Given the description of an element on the screen output the (x, y) to click on. 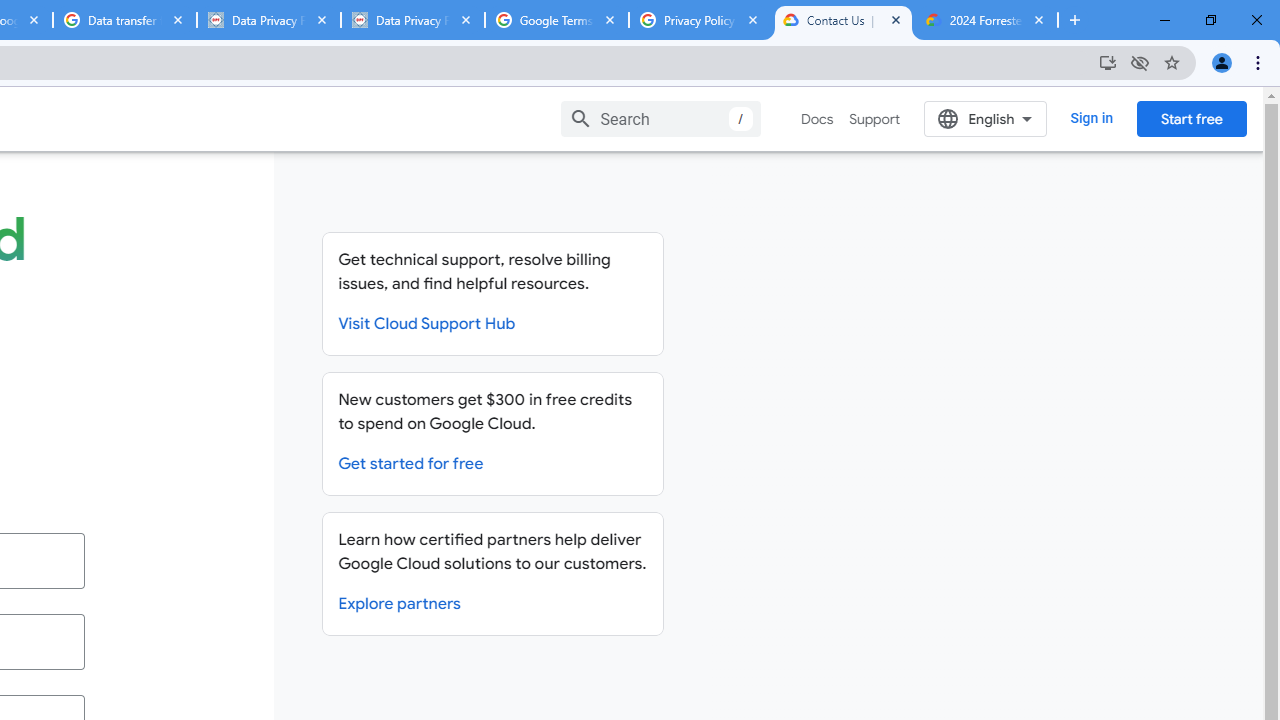
Support (874, 119)
Data Privacy Framework (412, 20)
English (985, 118)
Install Google Cloud (1107, 62)
